Given the description of an element on the screen output the (x, y) to click on. 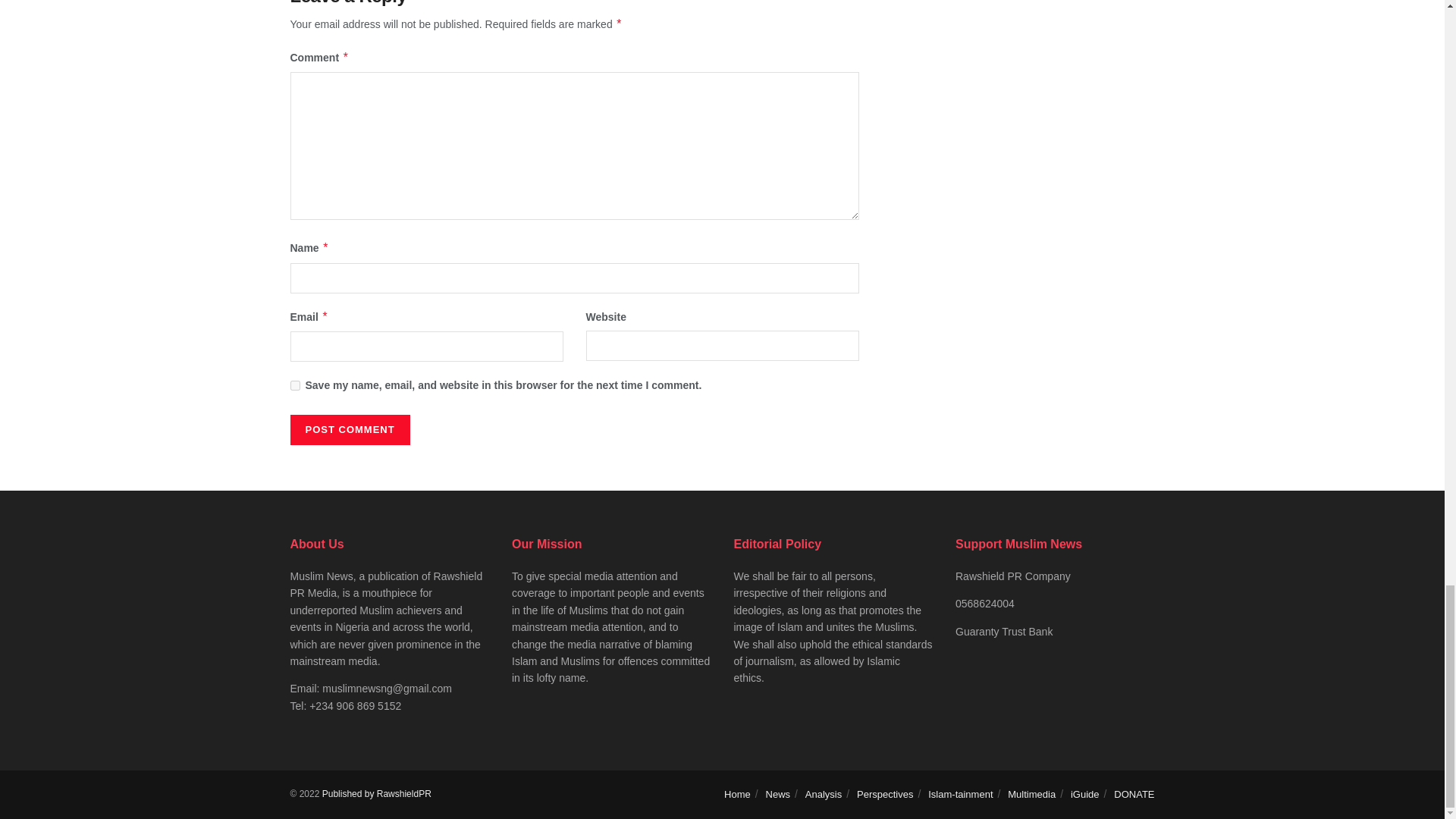
Published by RawshieldPR (375, 793)
Post Comment (349, 429)
yes (294, 385)
